Given the description of an element on the screen output the (x, y) to click on. 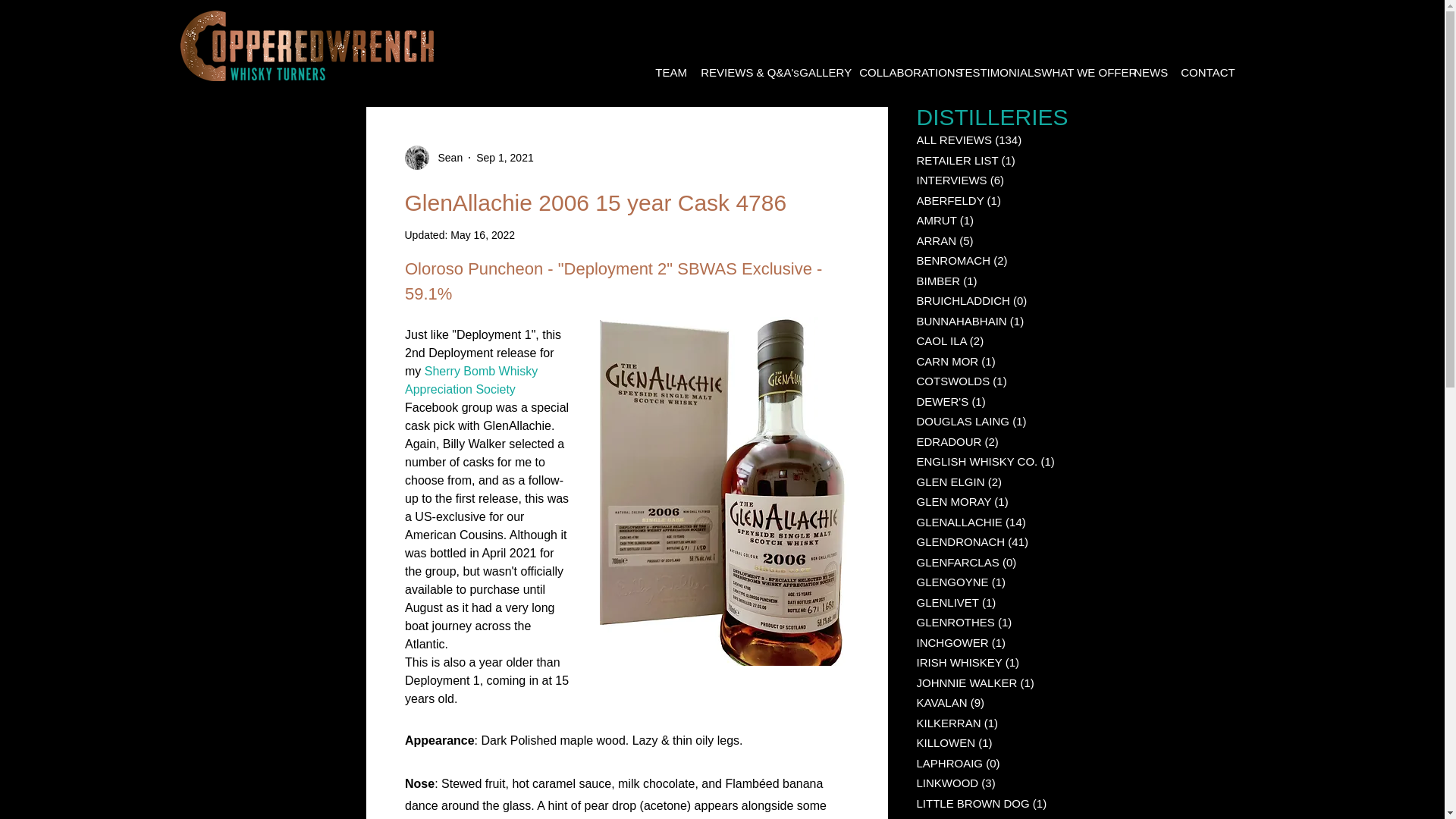
Sean (446, 157)
CONTACT (1200, 72)
NEWS (1145, 72)
Sean (433, 157)
TESTIMONIALS (987, 72)
GALLERY (817, 72)
Sep 1, 2021 (505, 157)
TEAM (665, 72)
COLLABORATIONS (896, 72)
Sherry Bomb Whisky Appreciation Society (472, 379)
